Given the description of an element on the screen output the (x, y) to click on. 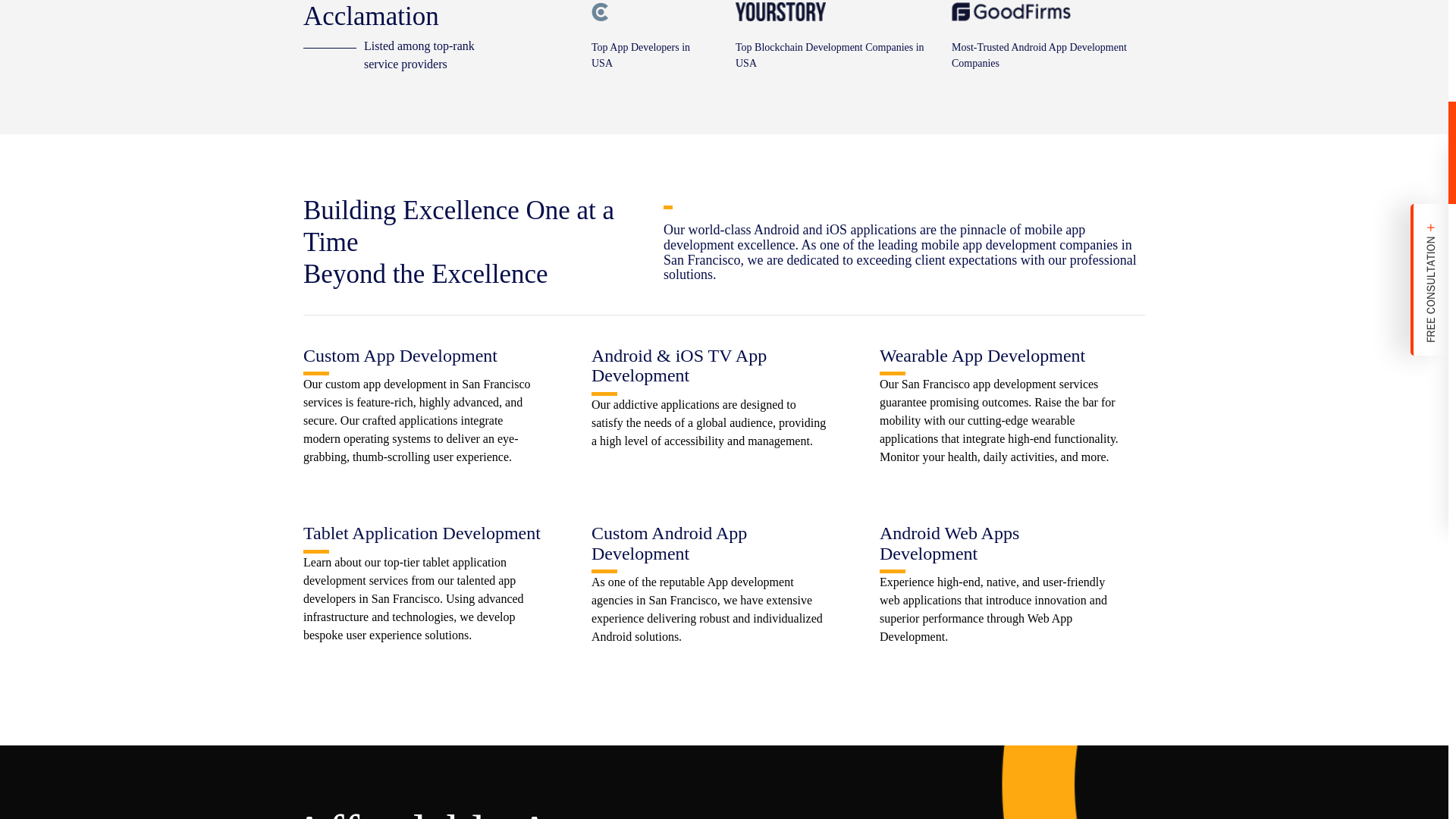
Logo of The App Founders' partner, GoodFirms (1011, 11)
Image of Clutch logo for app development ratings and reviews (599, 11)
